Given the description of an element on the screen output the (x, y) to click on. 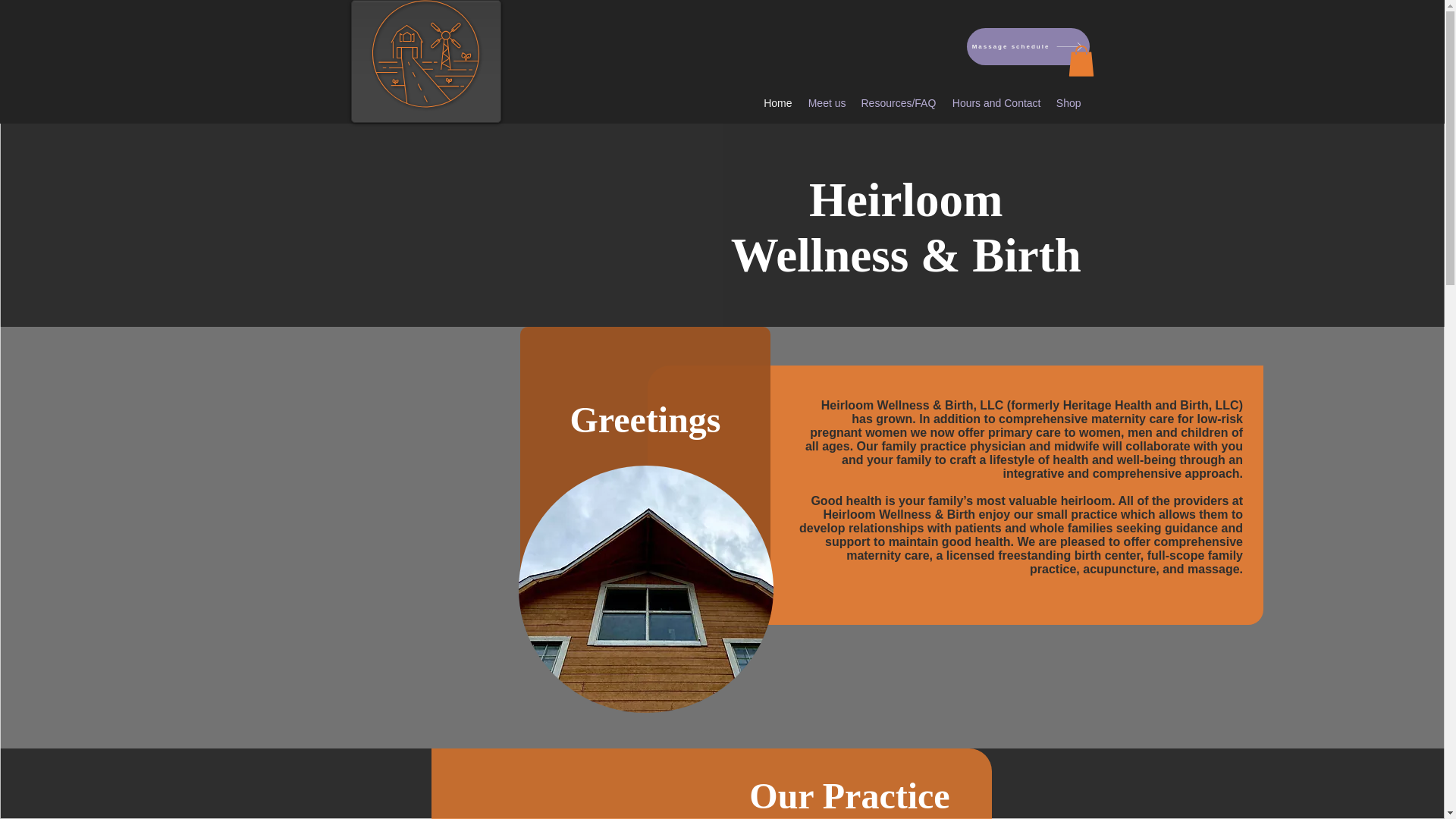
Meet us (826, 102)
Massage schedule (1027, 46)
Home (777, 102)
Shop (1067, 102)
Hours and Contact (995, 102)
